Given the description of an element on the screen output the (x, y) to click on. 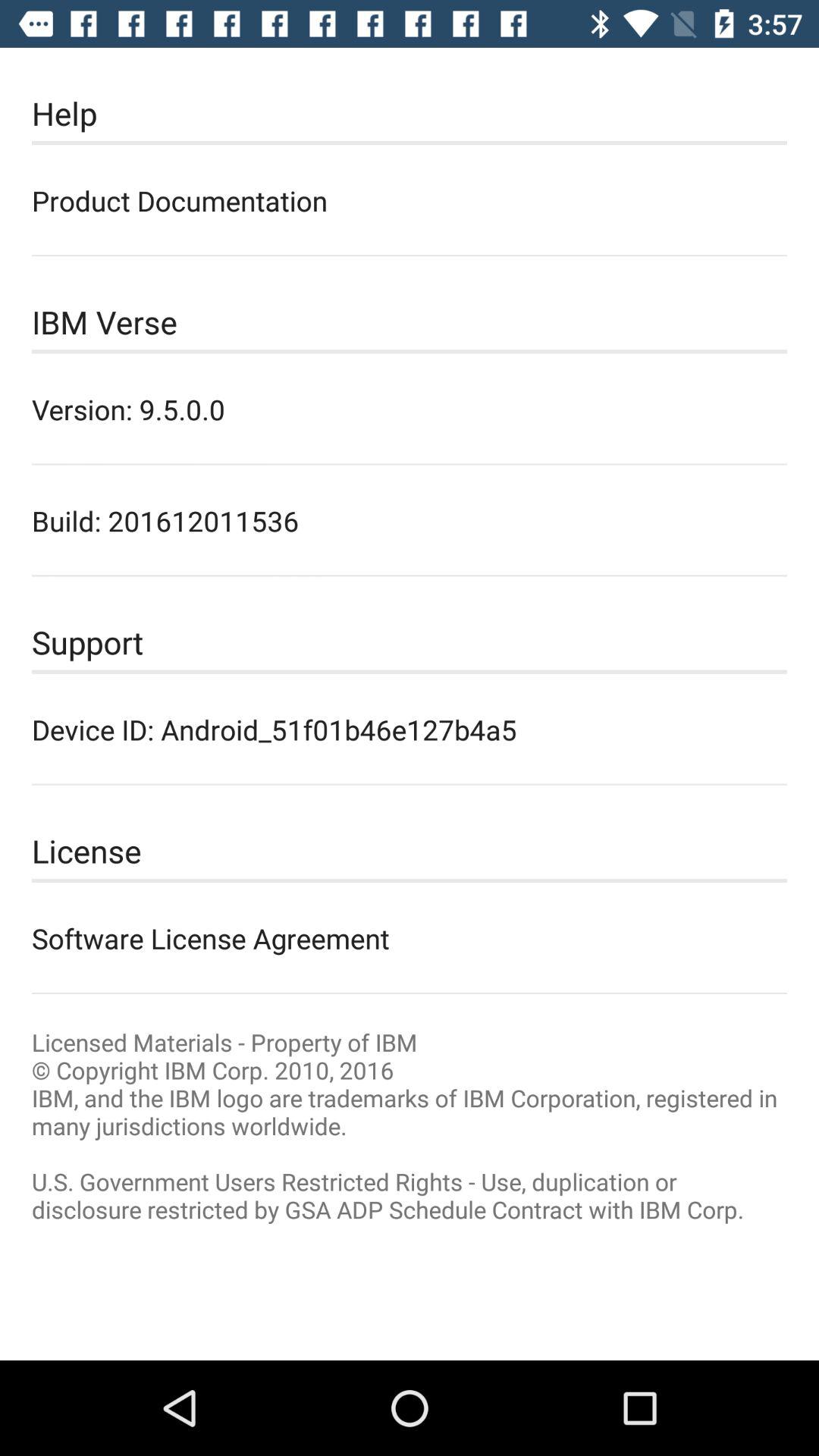
select icon below license (409, 938)
